Given the description of an element on the screen output the (x, y) to click on. 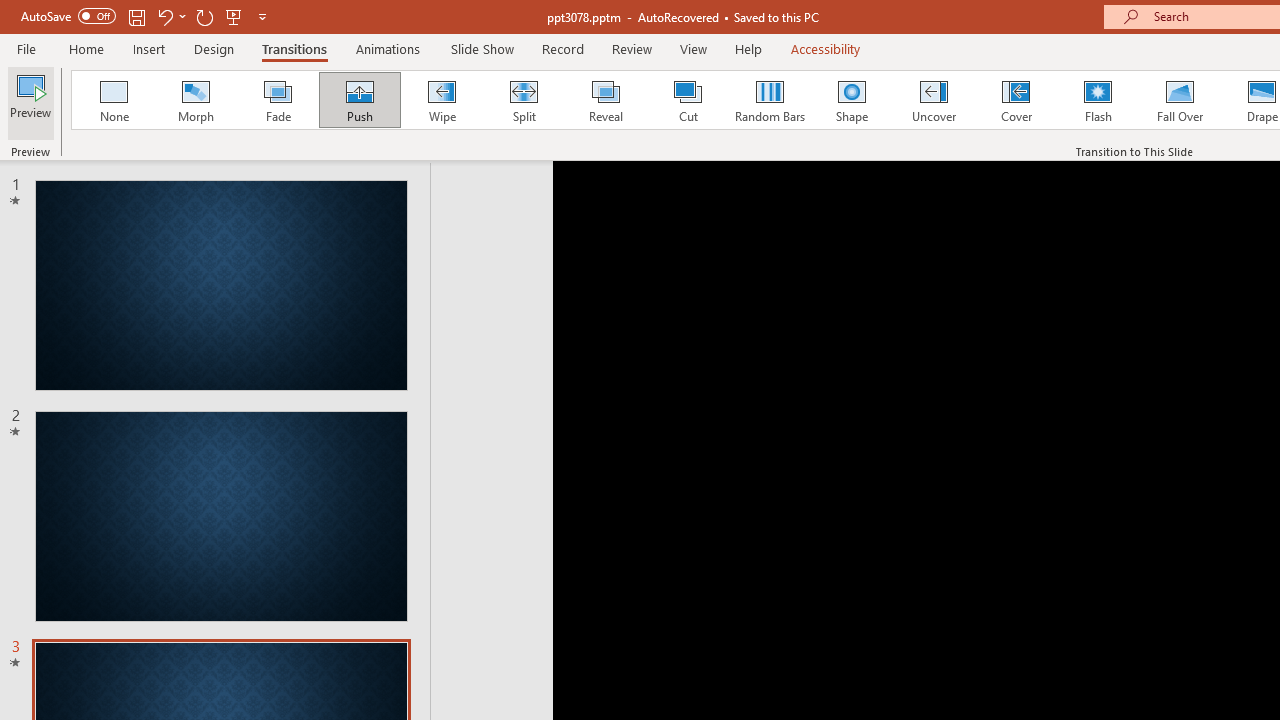
Random Bars (770, 100)
Cover (1016, 100)
Flash (1098, 100)
